Given the description of an element on the screen output the (x, y) to click on. 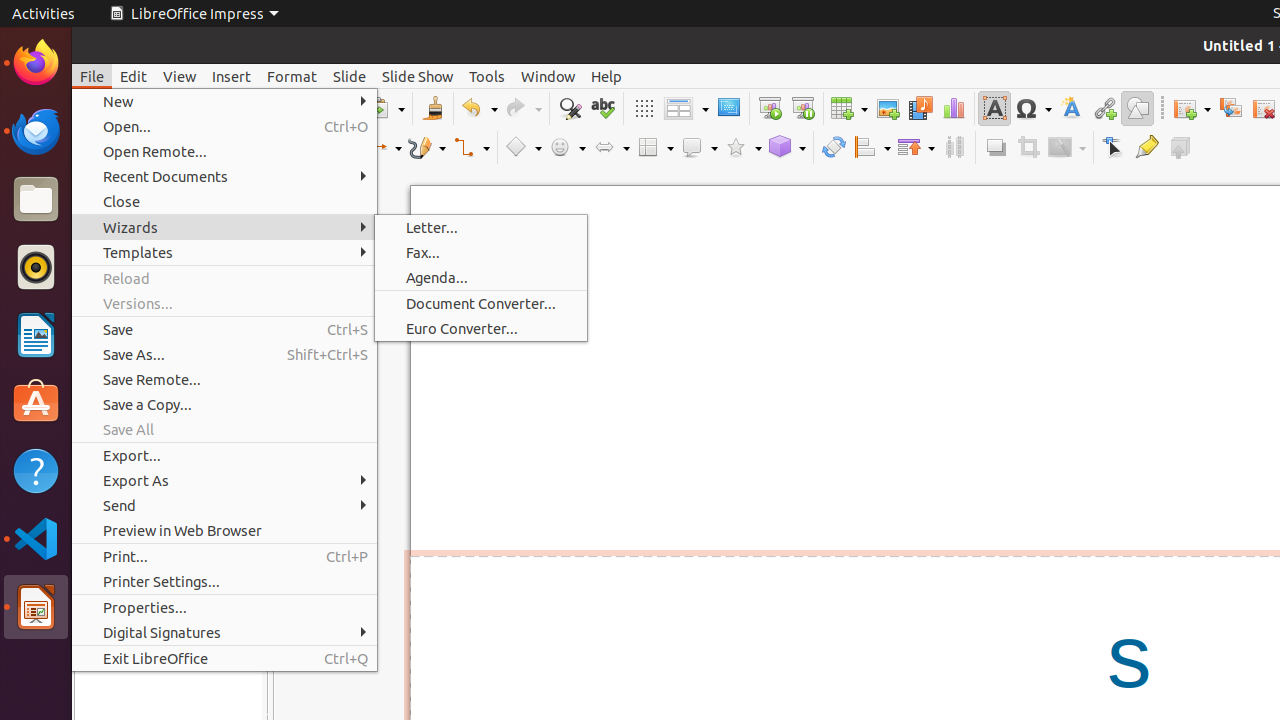
Edit Element type: menu (133, 76)
Digital Signatures Element type: menu (224, 632)
Save Element type: menu-item (224, 329)
Save Remote... Element type: menu-item (224, 379)
Insert Element type: menu (231, 76)
